Given the description of an element on the screen output the (x, y) to click on. 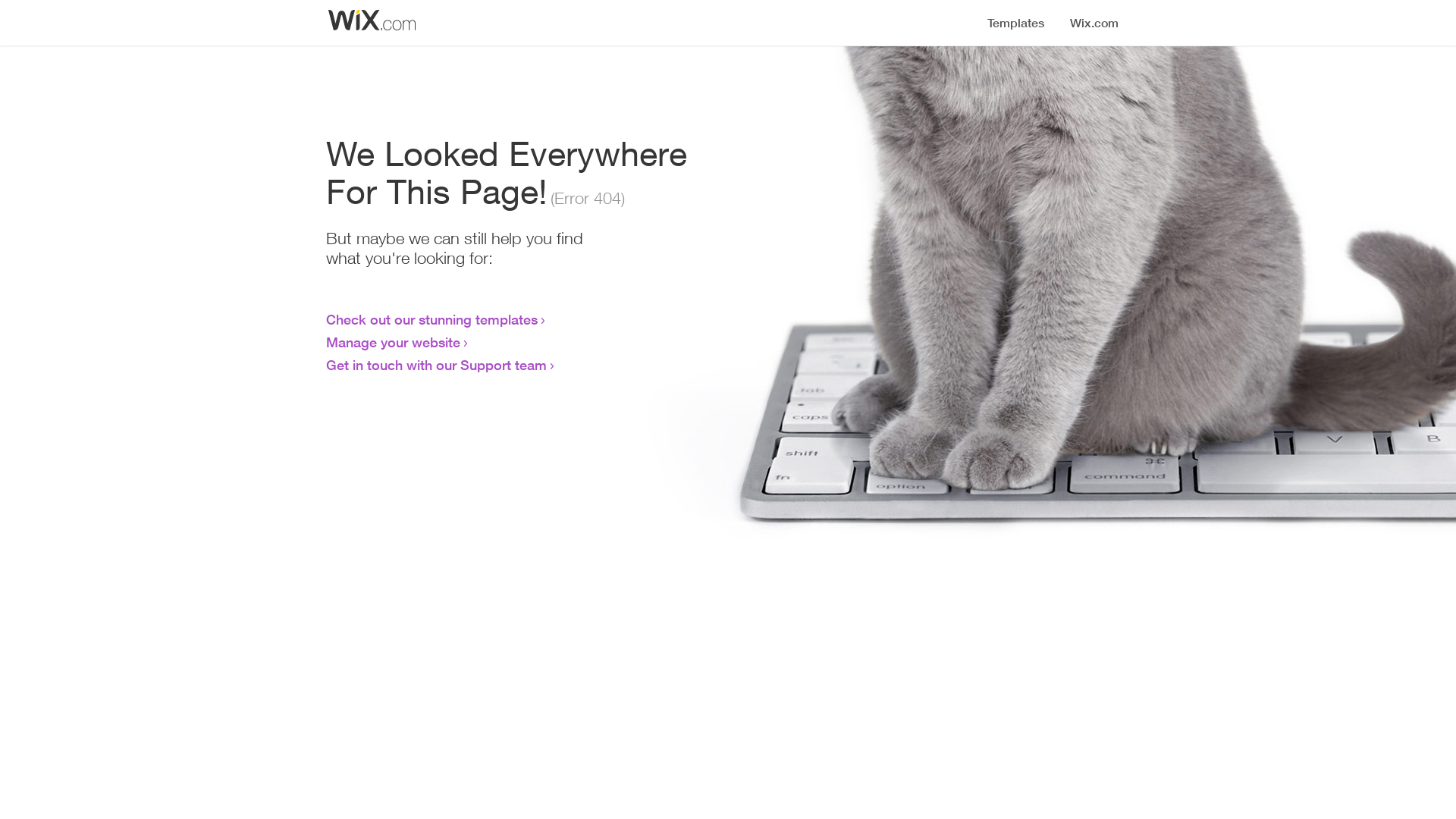
Manage your website Element type: text (393, 341)
Check out our stunning templates Element type: text (431, 318)
Get in touch with our Support team Element type: text (436, 364)
